Given the description of an element on the screen output the (x, y) to click on. 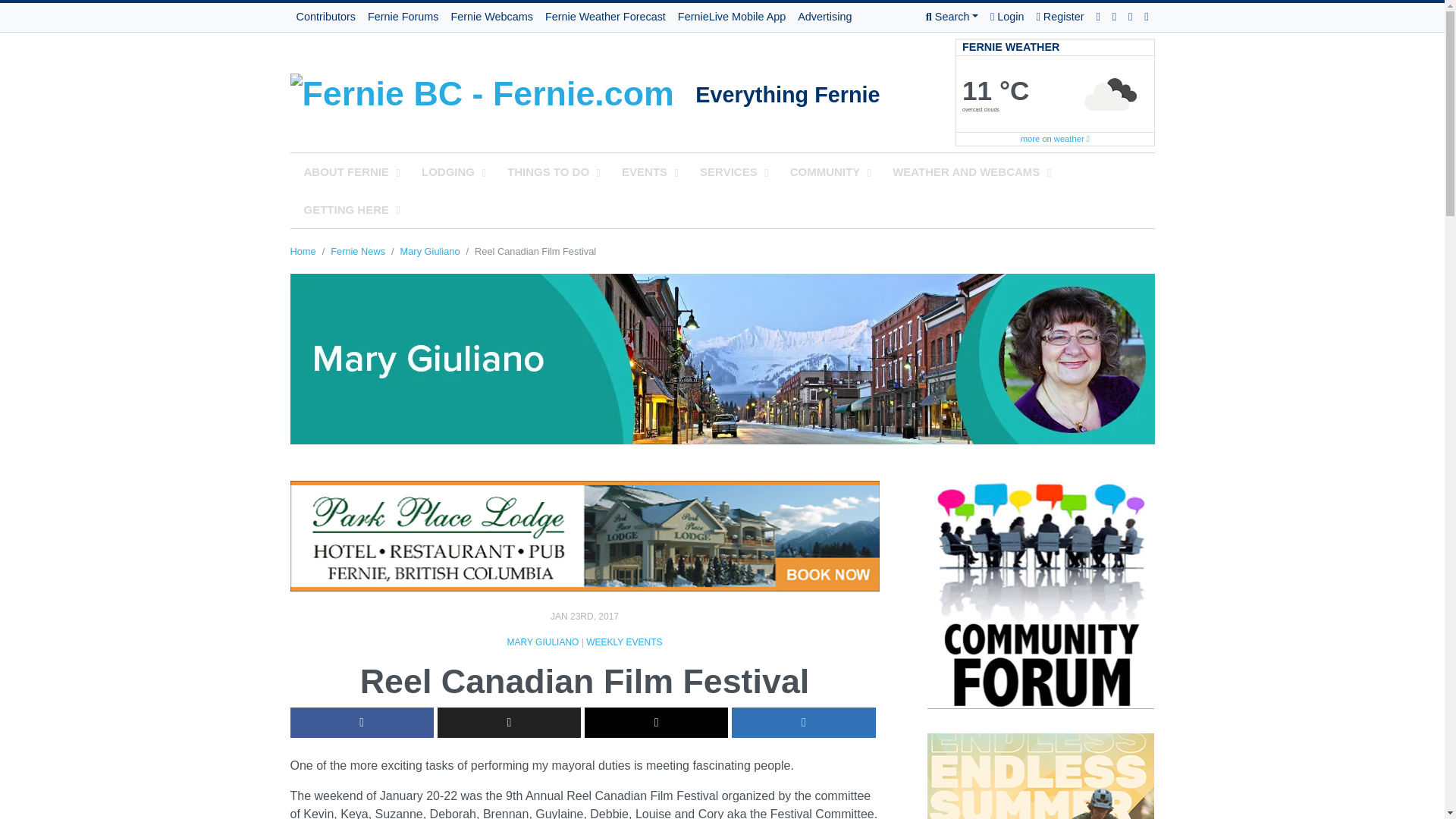
ABOUT FERNIE (348, 171)
Fernie Community (492, 89)
Fernie Weather Forecast (604, 17)
Register (1060, 17)
FernieLive Mobile App (731, 17)
Fernie Forums (403, 17)
THINGS TO DO (550, 171)
Go to the Mary Giuliano category archives. (430, 251)
FernieLive Mobile App (731, 17)
LODGING (450, 171)
